Given the description of an element on the screen output the (x, y) to click on. 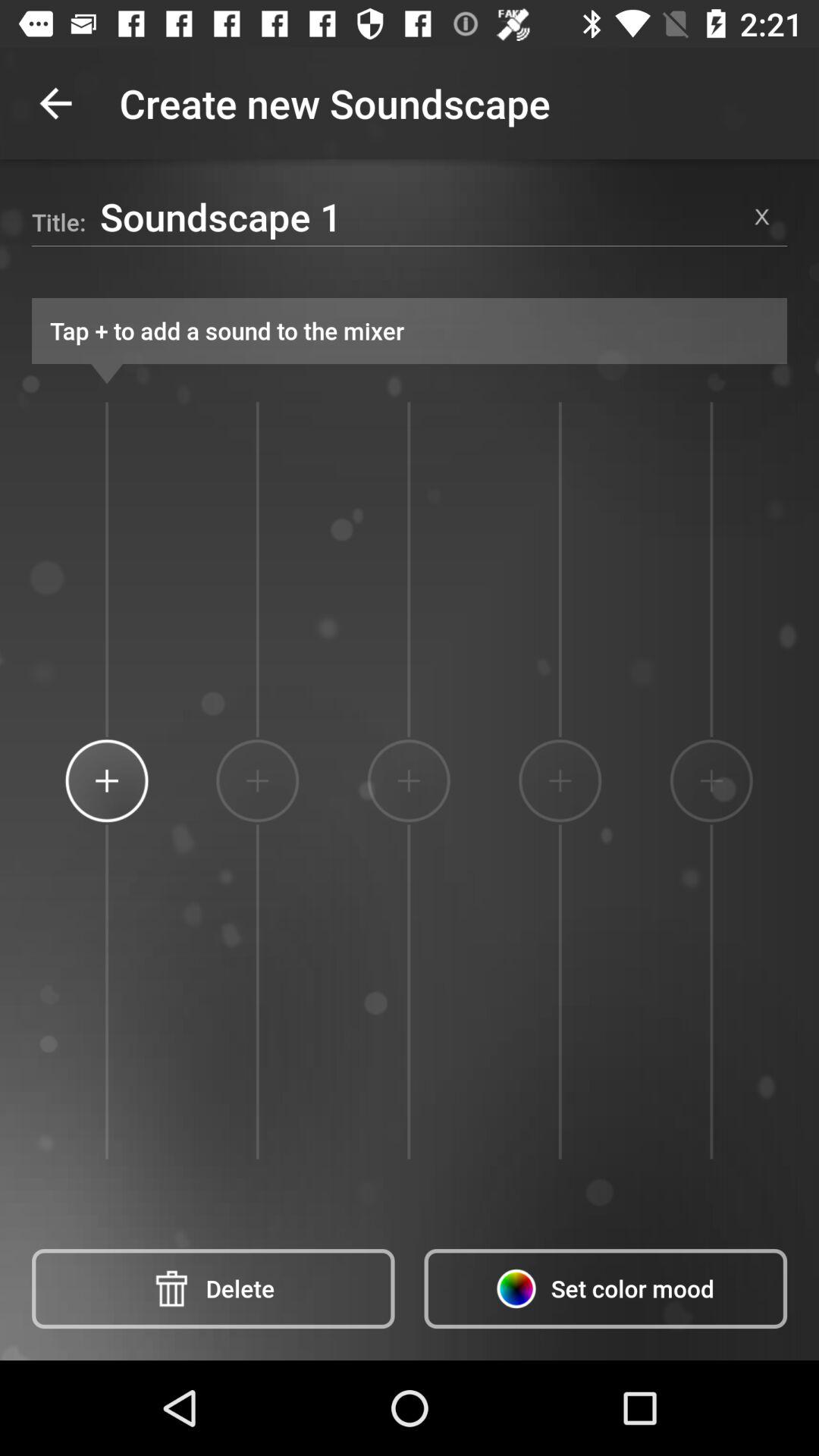
launch app to the left of the create new soundscape app (55, 103)
